Given the description of an element on the screen output the (x, y) to click on. 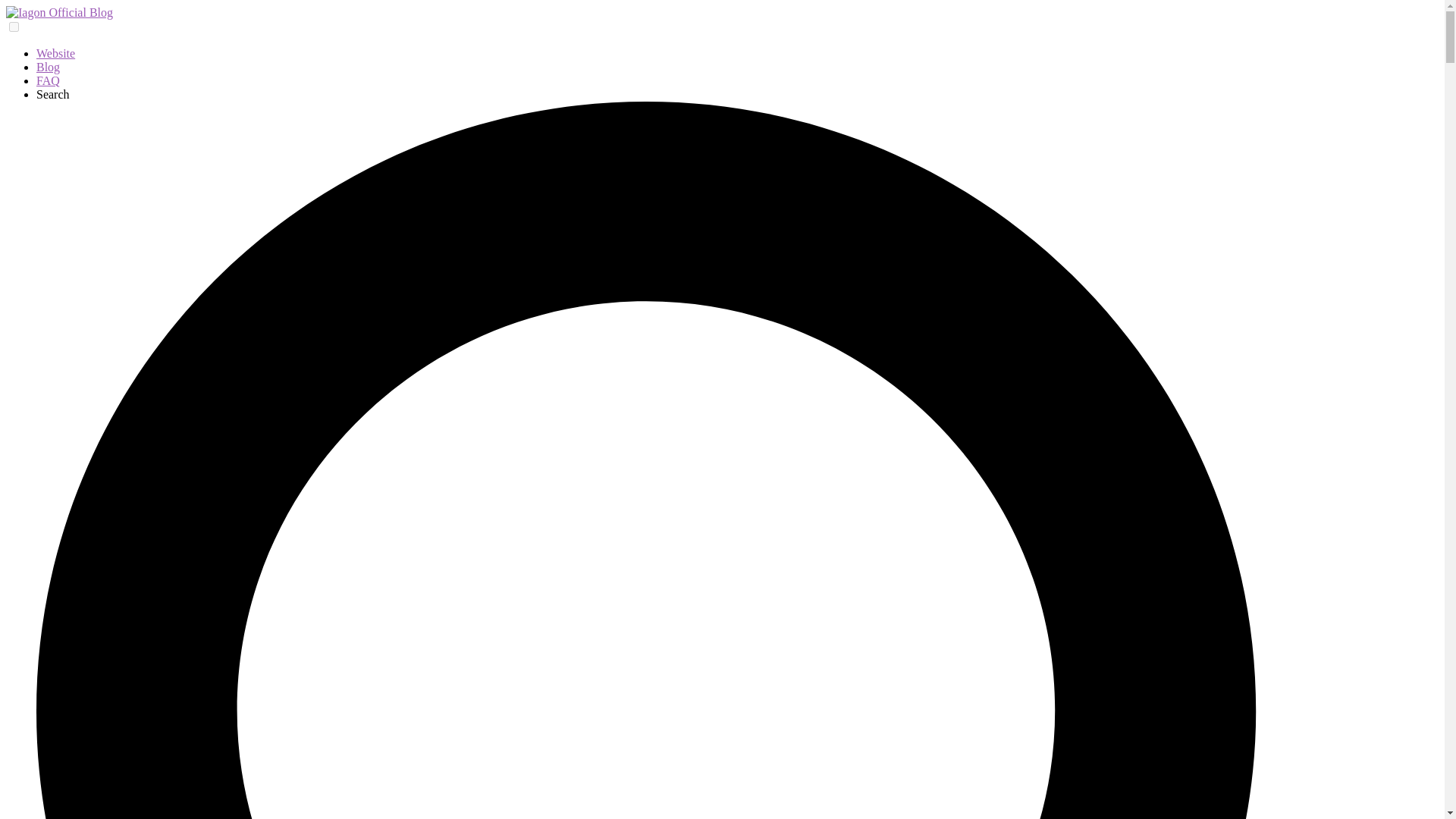
Website (55, 52)
FAQ (47, 80)
on (13, 26)
Blog (47, 66)
